Given the description of an element on the screen output the (x, y) to click on. 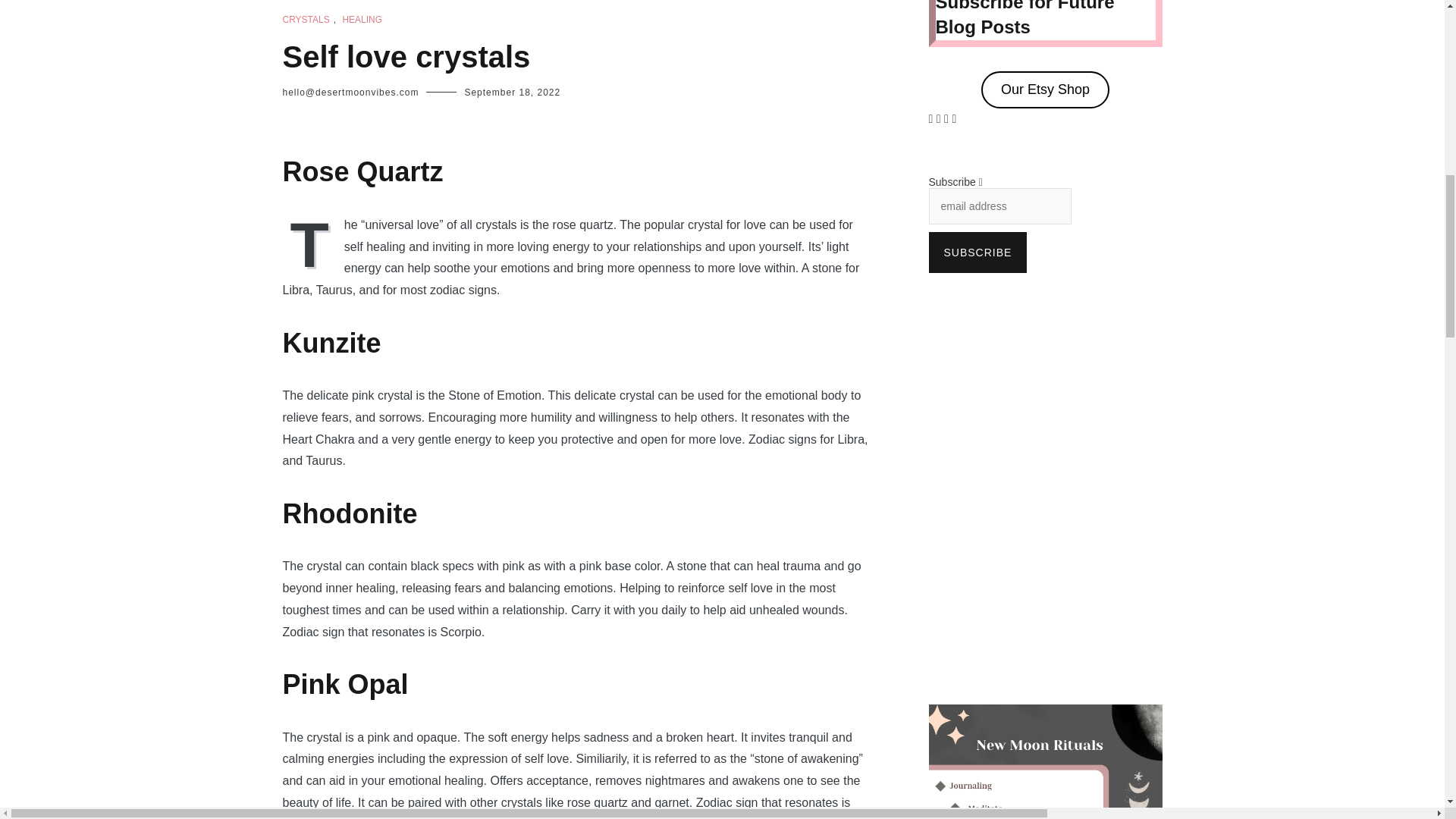
T (312, 242)
Subscribe (977, 251)
Our Etsy Shop (1045, 89)
September 18, 2022 (512, 91)
Subscribe (977, 251)
HEALING (361, 20)
CRYSTALS (305, 20)
